Given the description of an element on the screen output the (x, y) to click on. 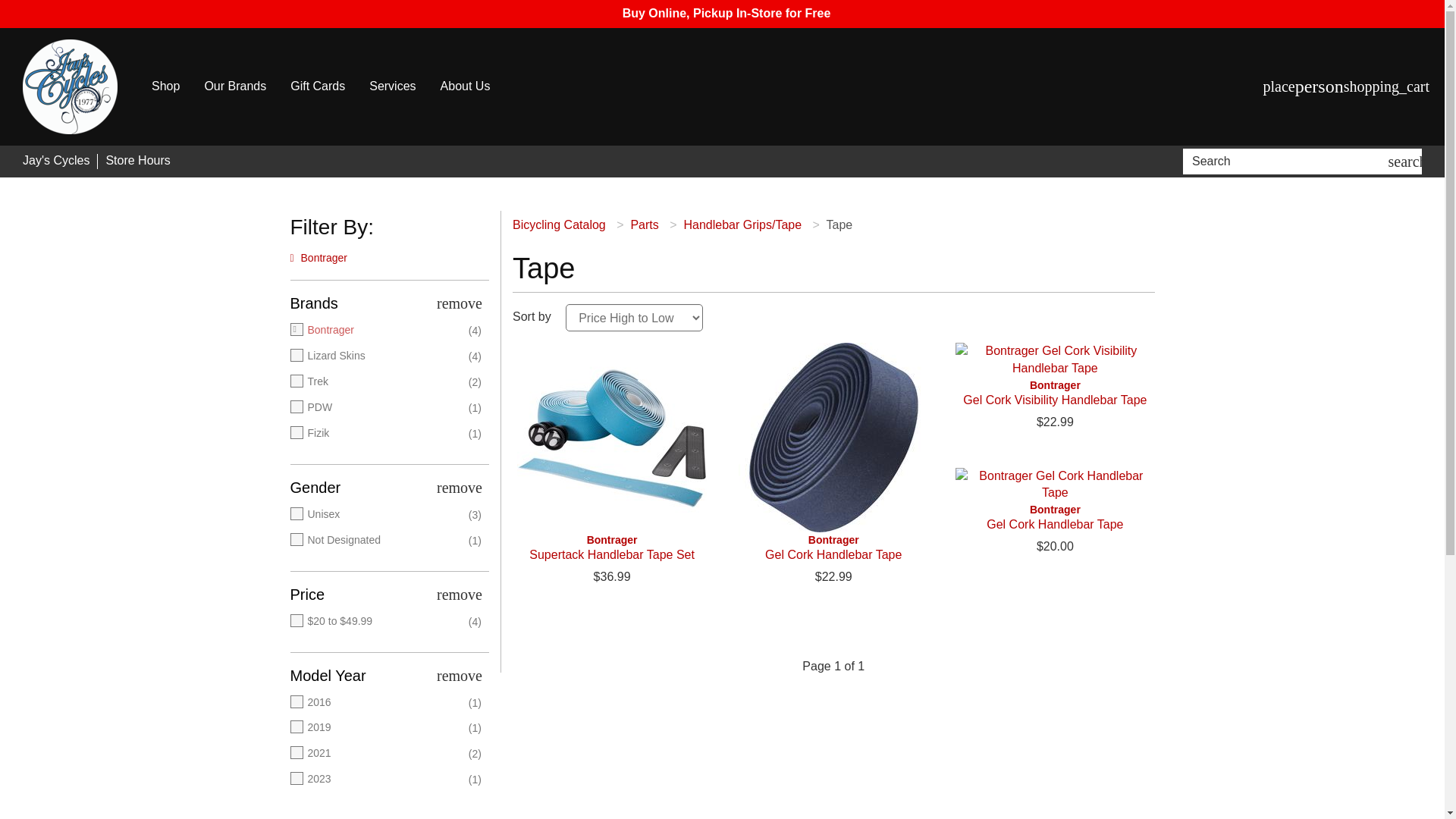
Buy Online, Pickup In-Store for Free (727, 12)
Search (1287, 161)
Account (1319, 86)
Store Hours (137, 160)
Stores (1279, 86)
Shop (164, 86)
Bontrager Supertack Handlebar Tape Set (611, 547)
Bontrager Supertack Handlebar Tape Set (611, 437)
Bontrager Gel Cork Handlebar Tape (833, 437)
Bontrager Gel Cork Handlebar Tape (833, 547)
